Given the description of an element on the screen output the (x, y) to click on. 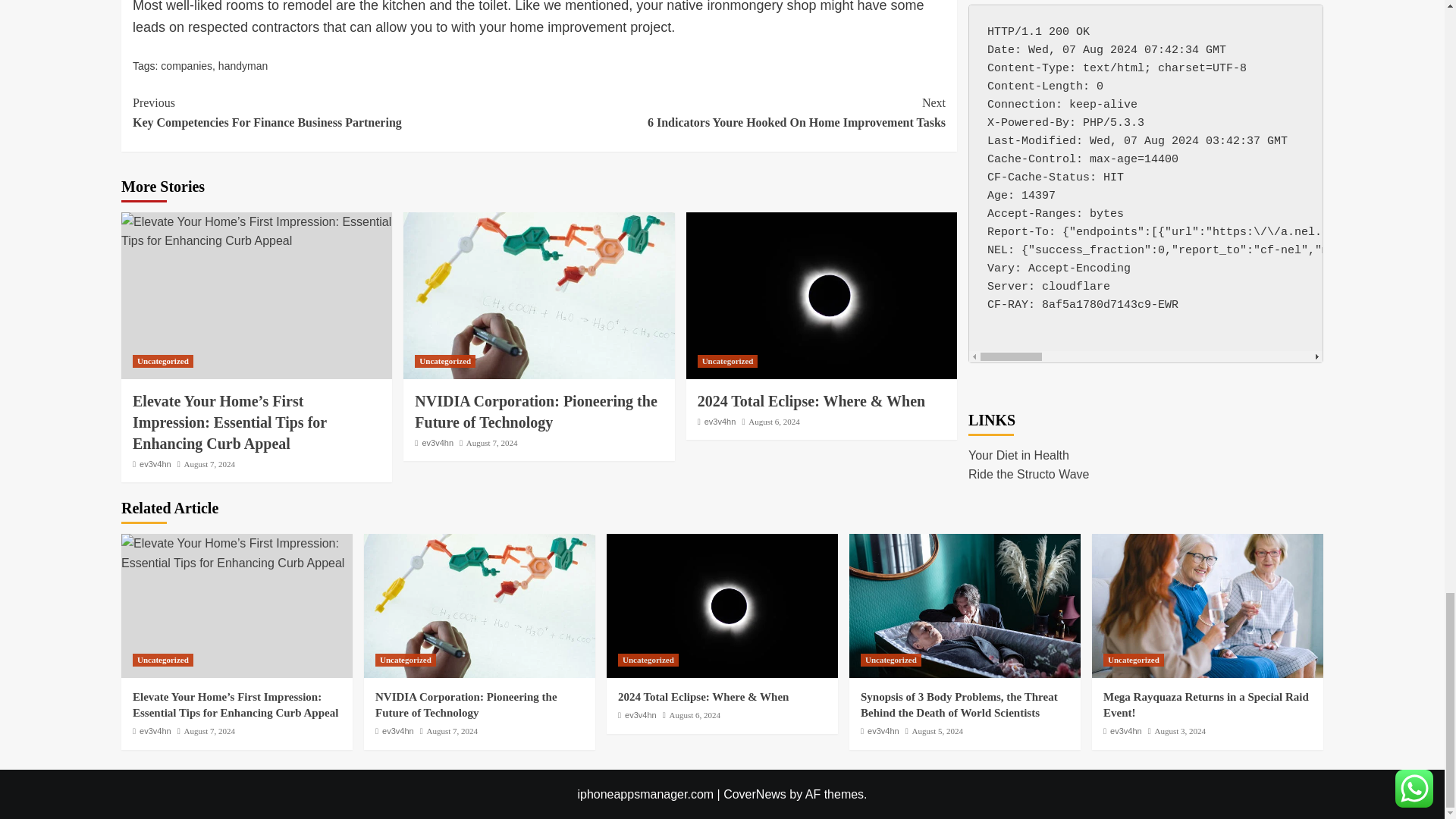
ev3v4hn (155, 463)
NVIDIA Corporation: Pioneering the Future of Technology (538, 295)
companies (186, 65)
handyman (741, 112)
Uncategorized (335, 112)
